Given the description of an element on the screen output the (x, y) to click on. 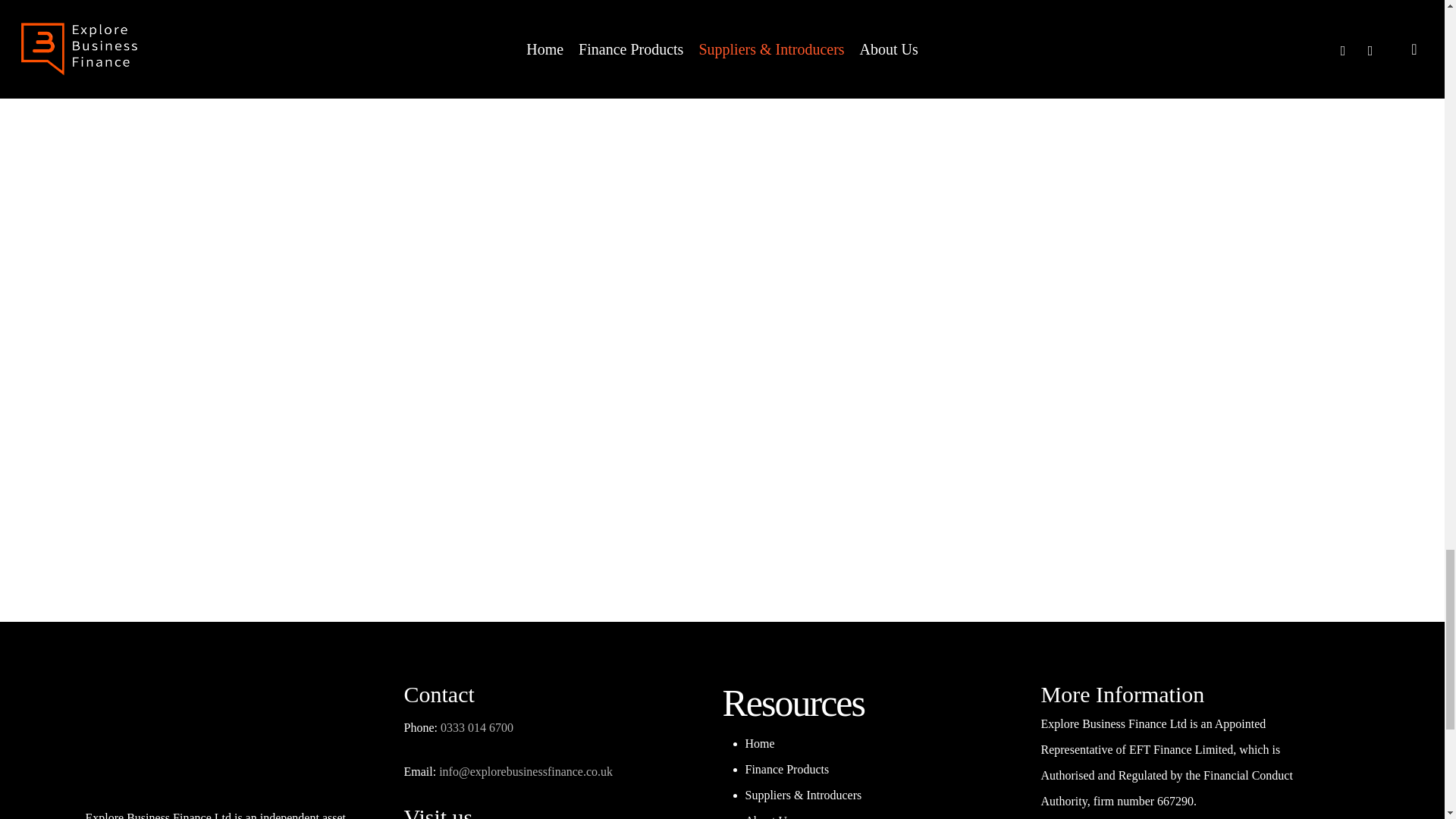
Home (759, 743)
About Us (768, 816)
Finance Products (786, 768)
0333 014 6700 (477, 727)
